Given the description of an element on the screen output the (x, y) to click on. 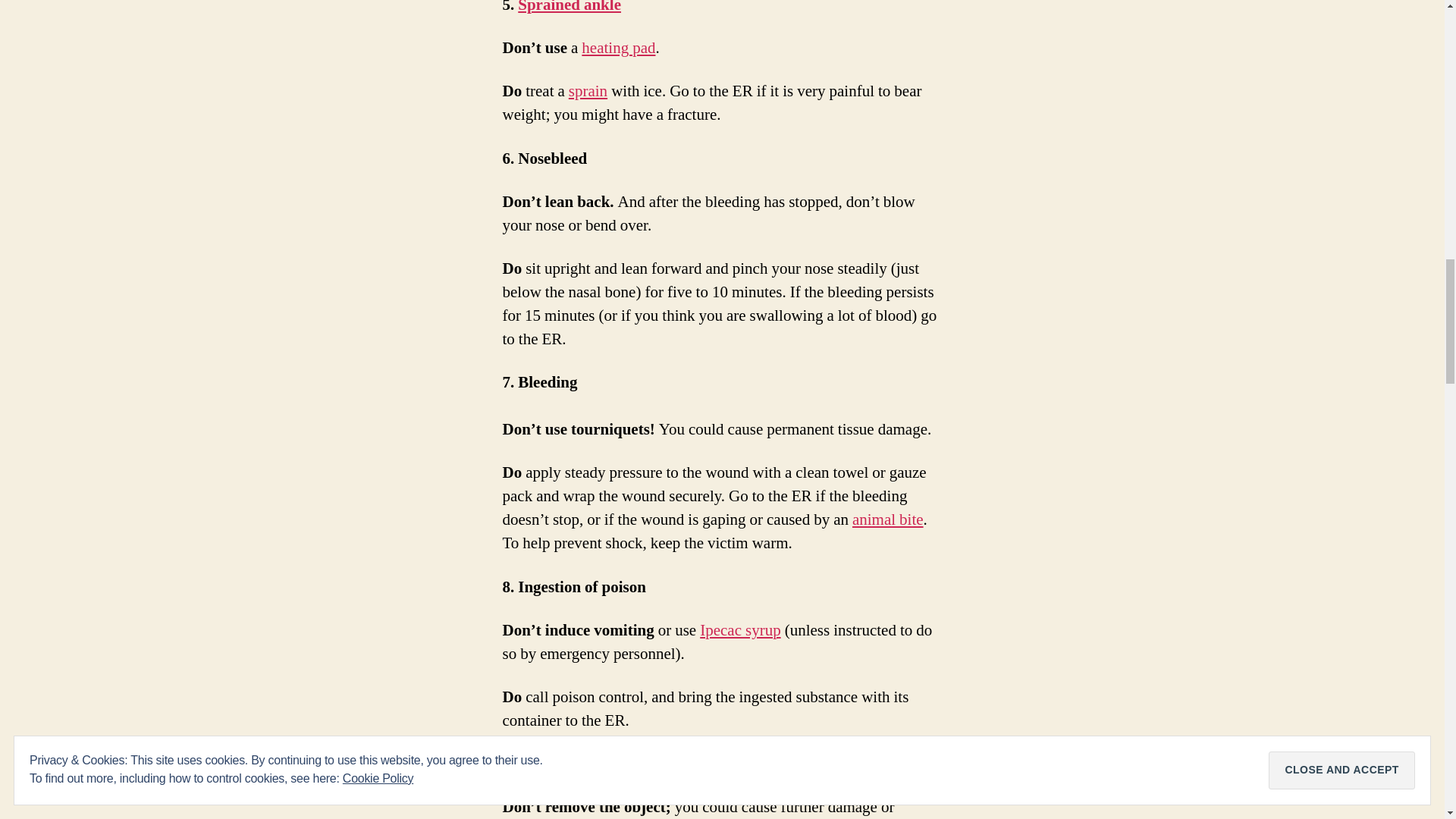
sprain (588, 91)
Sprain (588, 91)
heating pad (617, 47)
Heating pad (617, 47)
Sprained ankle (569, 7)
Bite (887, 519)
Syrup of ipecac (740, 629)
Sprained ankle (569, 7)
Ipecac syrup (740, 629)
animal bite (887, 519)
